Given the description of an element on the screen output the (x, y) to click on. 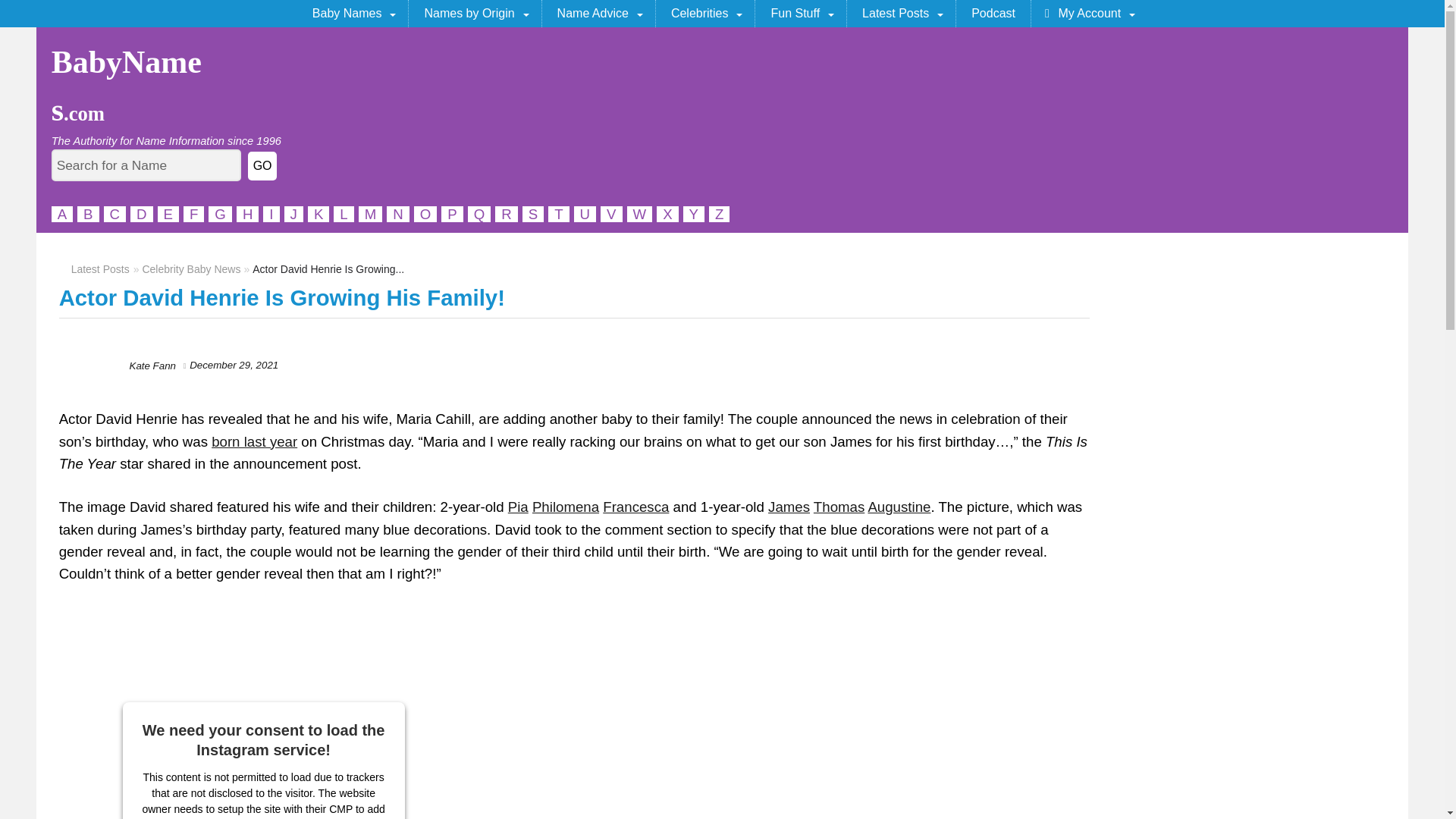
Names Starting with C (114, 213)
Names Starting with N (398, 213)
Fun Stuff (800, 13)
Names Starting with B (88, 213)
Names Starting with I (271, 213)
Baby Names (353, 13)
Names Starting with A (61, 213)
BabyNames.com (126, 86)
Name Advice (598, 13)
Names Starting with J (292, 213)
